Given the description of an element on the screen output the (x, y) to click on. 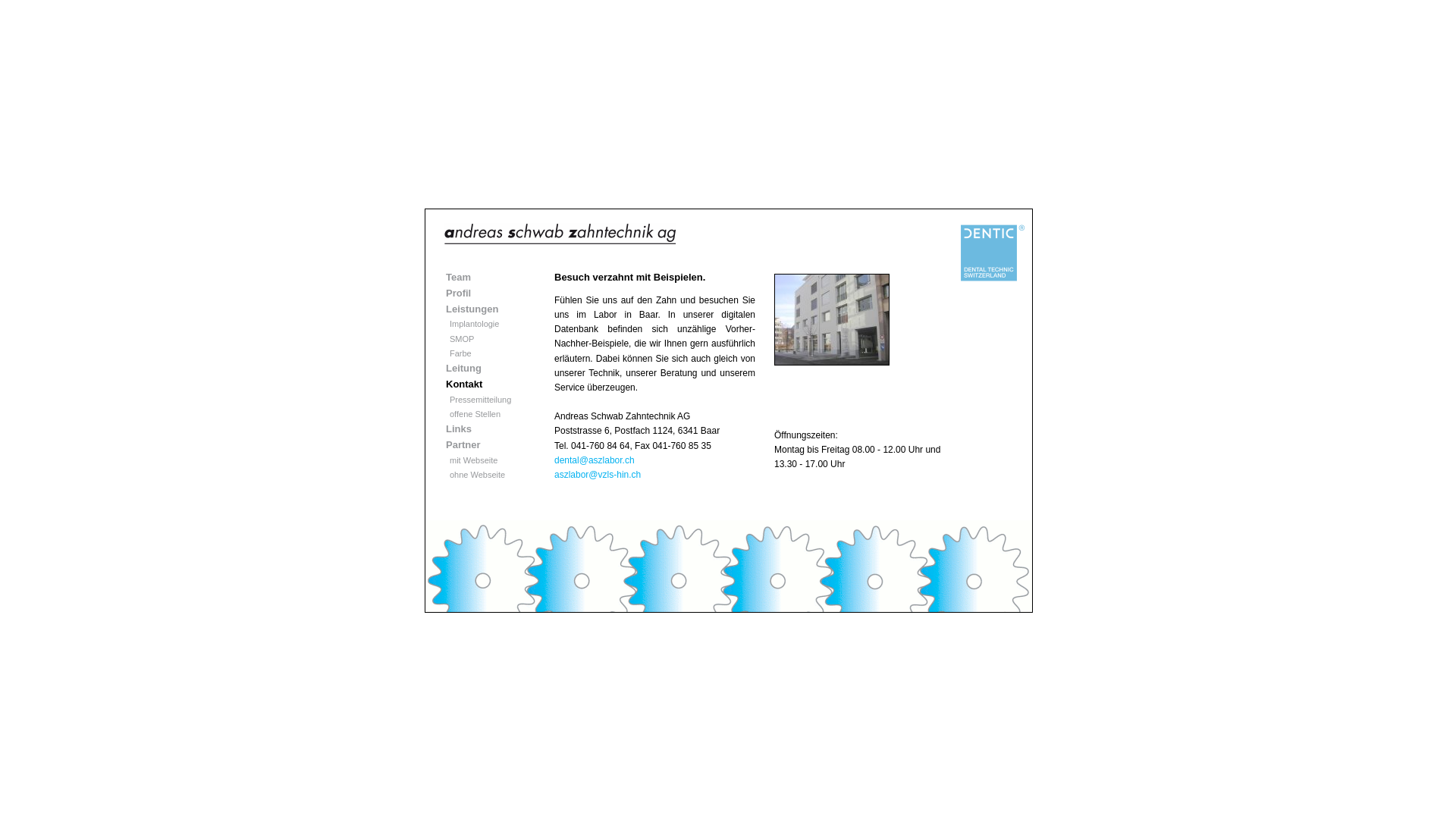
Farbe Element type: text (460, 352)
SMOP Element type: text (461, 338)
Leistungen Element type: text (471, 308)
Lageplan als PDF Element type: text (590, 532)
Implantologie Element type: text (473, 323)
aszlabor@vzls-hin.ch Element type: text (597, 474)
mit Webseite Element type: text (473, 459)
Links Element type: text (458, 428)
Kontakt Element type: text (463, 383)
Profil Element type: text (457, 292)
Team Element type: text (457, 276)
dental@aszlabor.ch Element type: text (594, 460)
Pressemitteilung Element type: text (480, 399)
offene Stellen Element type: text (474, 413)
Partner Element type: text (462, 444)
Leitung Element type: text (463, 367)
ohne Webseite Element type: text (477, 474)
